Given the description of an element on the screen output the (x, y) to click on. 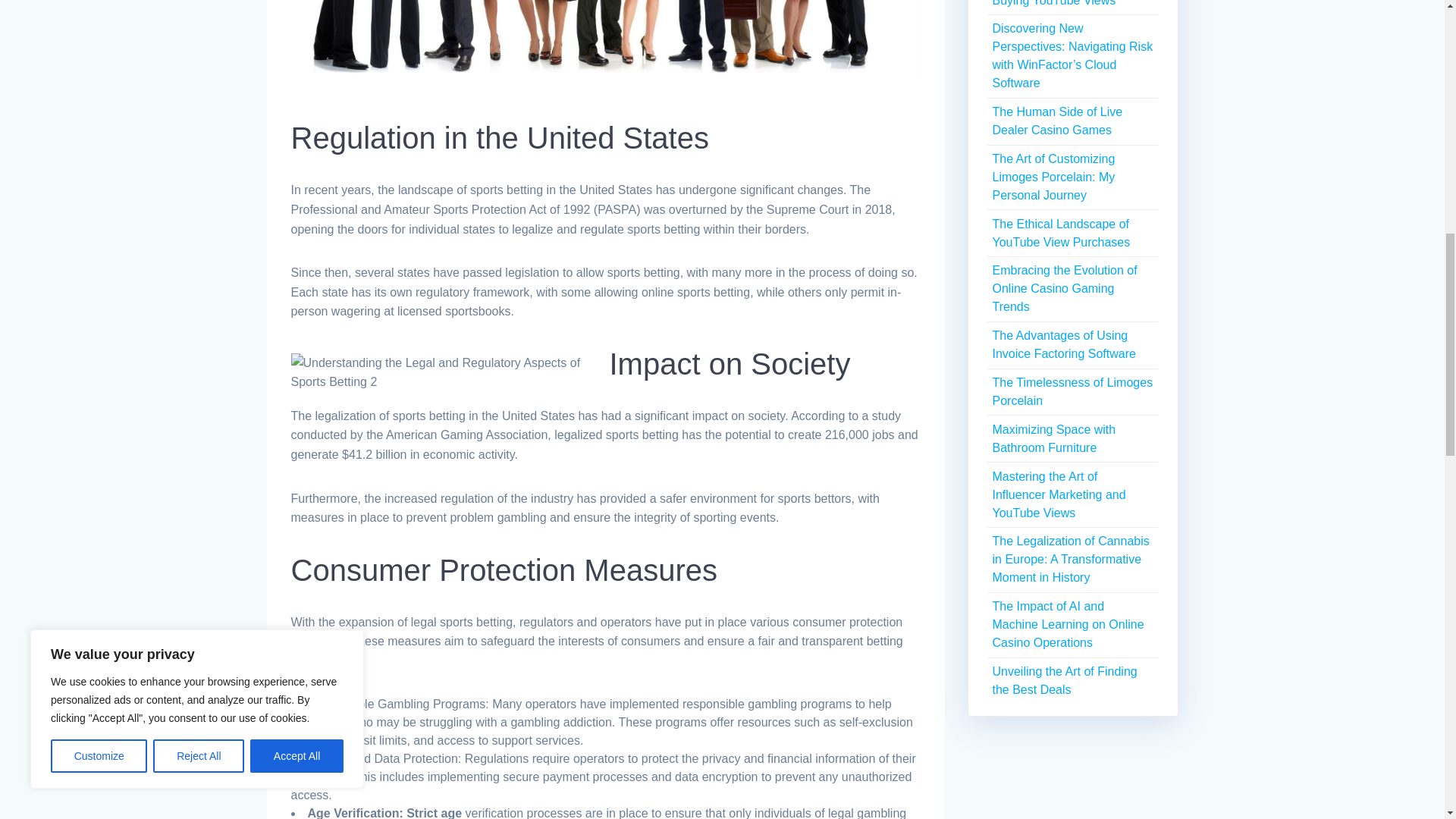
The Ethical Landscape of YouTube View Purchases (1060, 232)
The Ethical Dilemma of Buying YouTube Views (1053, 3)
The Human Side of Live Dealer Casino Games (1056, 120)
